Given the description of an element on the screen output the (x, y) to click on. 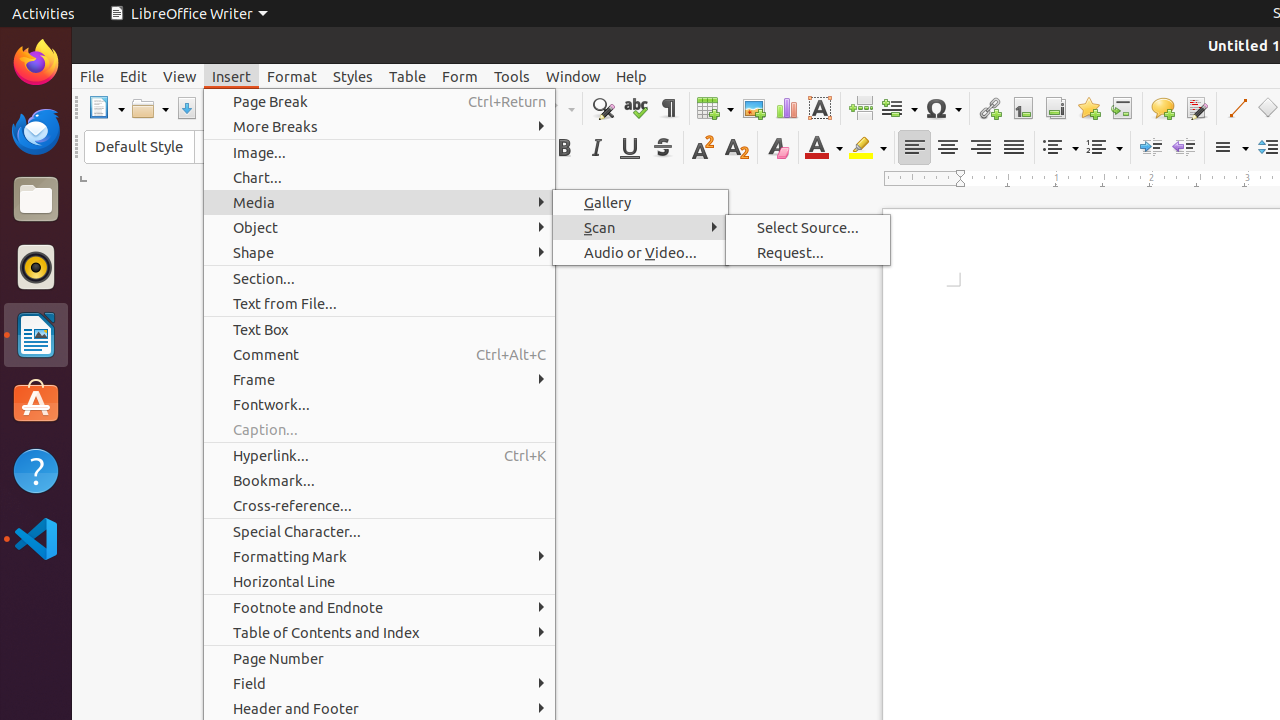
Page Break Element type: menu-item (379, 101)
Fontwork... Element type: menu-item (379, 404)
Help Element type: menu (631, 76)
File Element type: menu (92, 76)
Hyperlink Element type: toggle-button (989, 108)
